Given the description of an element on the screen output the (x, y) to click on. 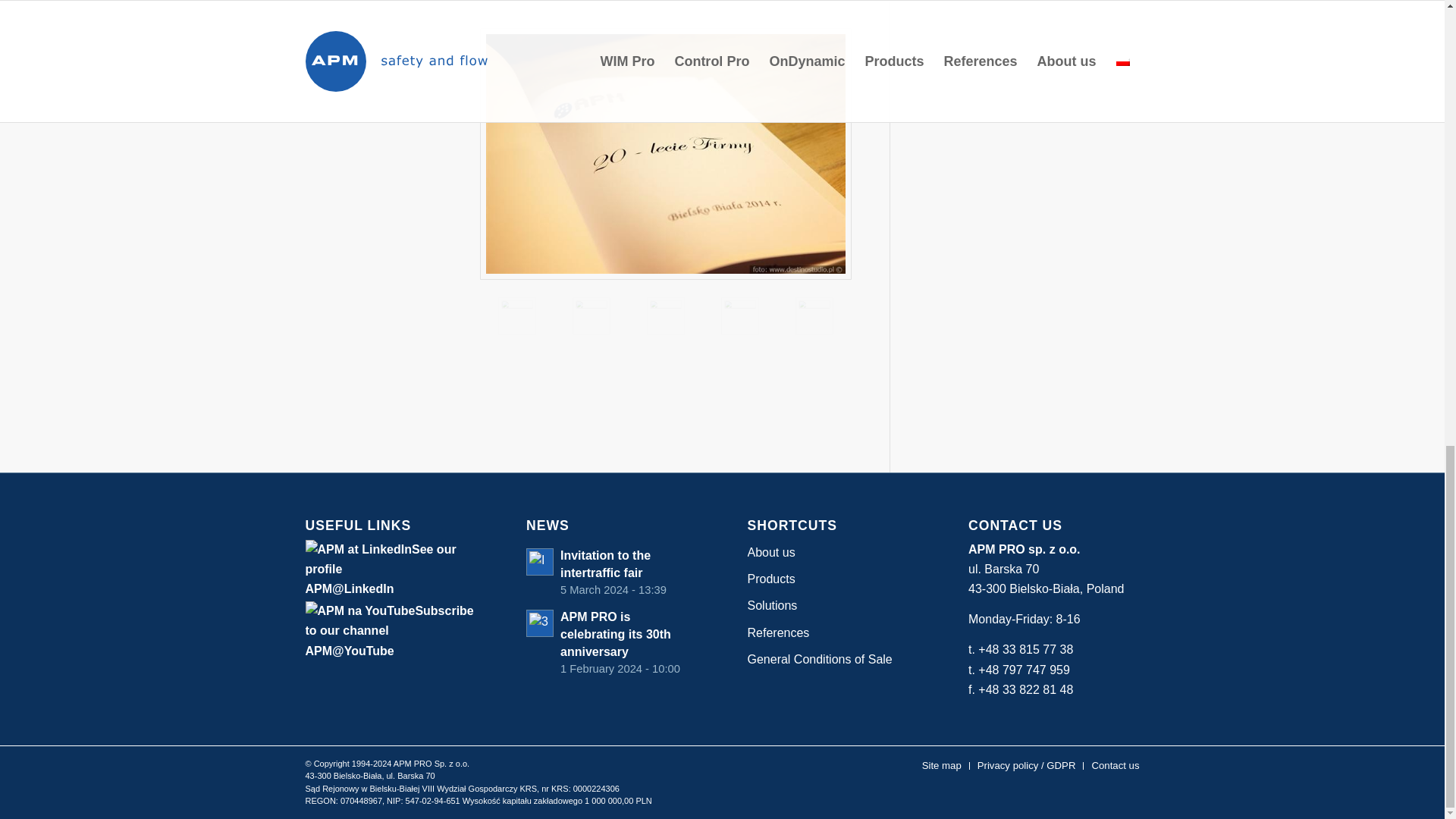
Site map (940, 765)
References (833, 633)
General Conditions of Sale (833, 660)
Solutions (833, 605)
Products (833, 579)
See our profile (379, 558)
Subscribe to our channel (388, 620)
Contact us (611, 571)
About us (1114, 765)
